Given the description of an element on the screen output the (x, y) to click on. 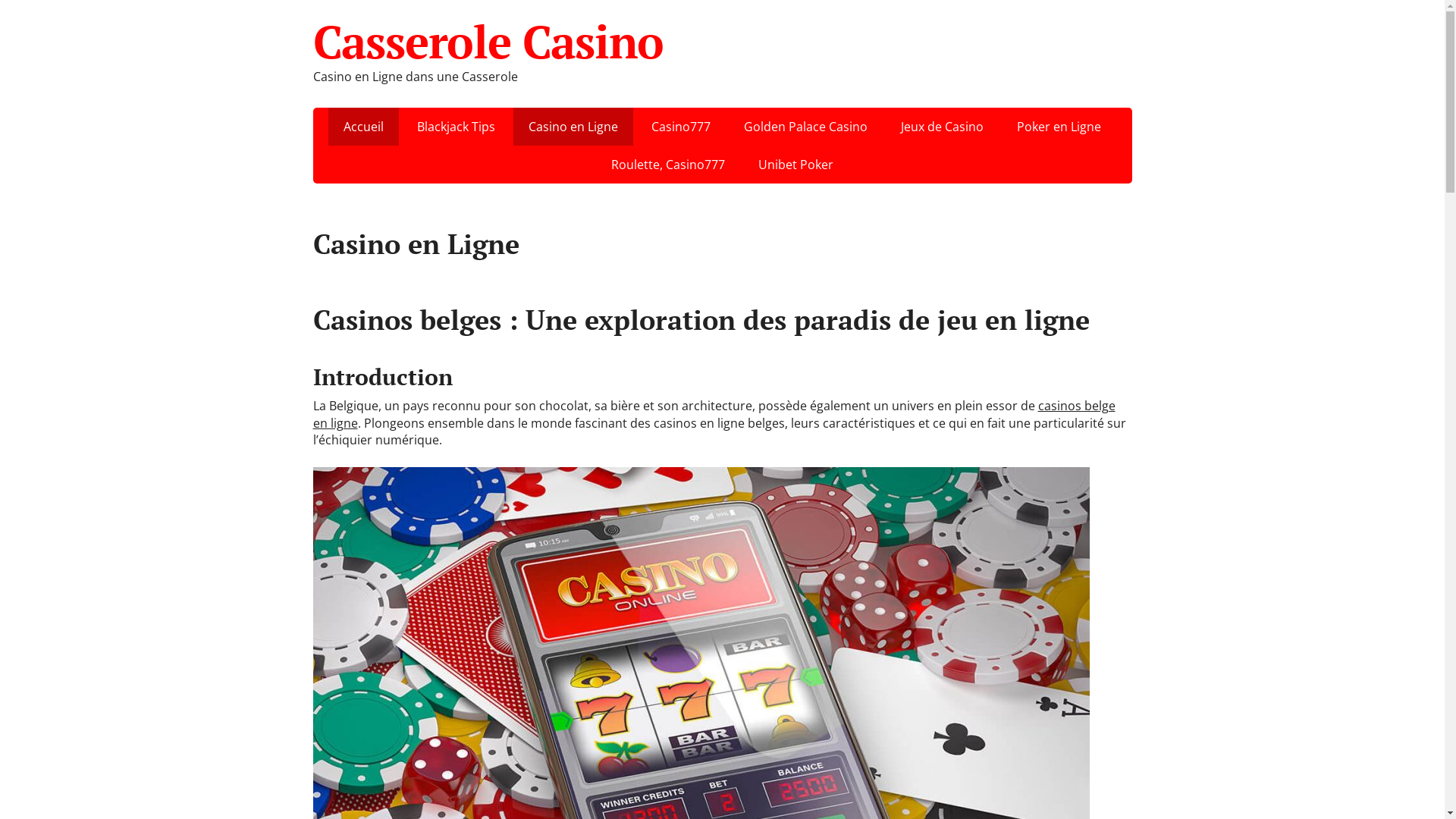
Poker en Ligne Element type: text (1058, 126)
Casserole Casino Element type: text (721, 41)
casinos belge en ligne Element type: text (713, 413)
Unibet Poker Element type: text (795, 164)
Casino777 Element type: text (680, 126)
Roulette, Casino777 Element type: text (668, 164)
Golden Palace Casino Element type: text (805, 126)
Blackjack Tips Element type: text (455, 126)
Casino en Ligne Element type: text (573, 126)
Jeux de Casino Element type: text (941, 126)
